Given the description of an element on the screen output the (x, y) to click on. 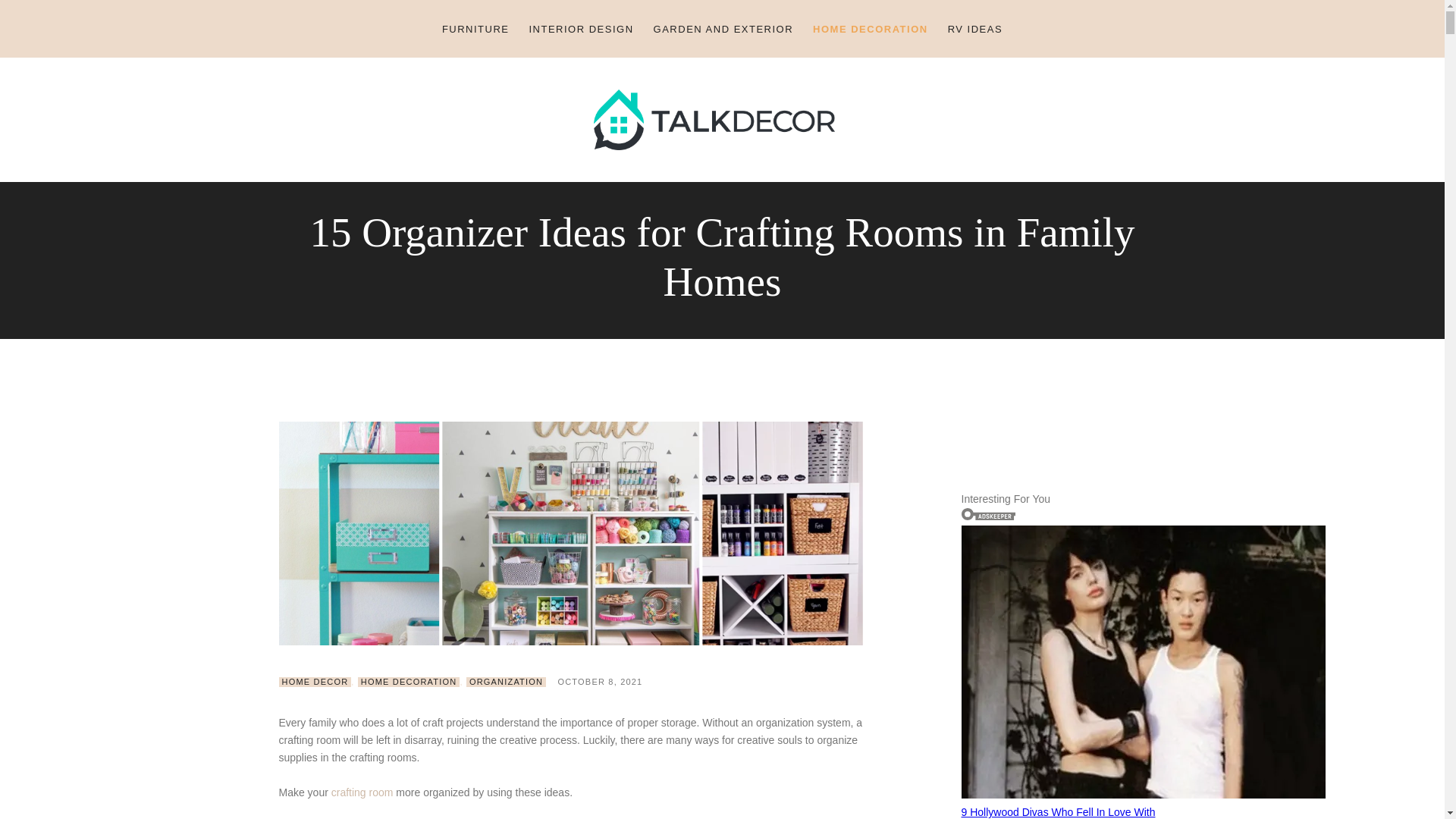
RV IDEAS (974, 29)
GARDEN AND EXTERIOR (723, 29)
FURNITURE (475, 29)
HOME DECORATION (870, 29)
ORGANIZATION (505, 682)
crafting room (362, 792)
HOME DECORATION (409, 682)
OCTOBER 8, 2021 (599, 681)
INTERIOR DESIGN (580, 29)
HOME DECOR (315, 682)
